Given the description of an element on the screen output the (x, y) to click on. 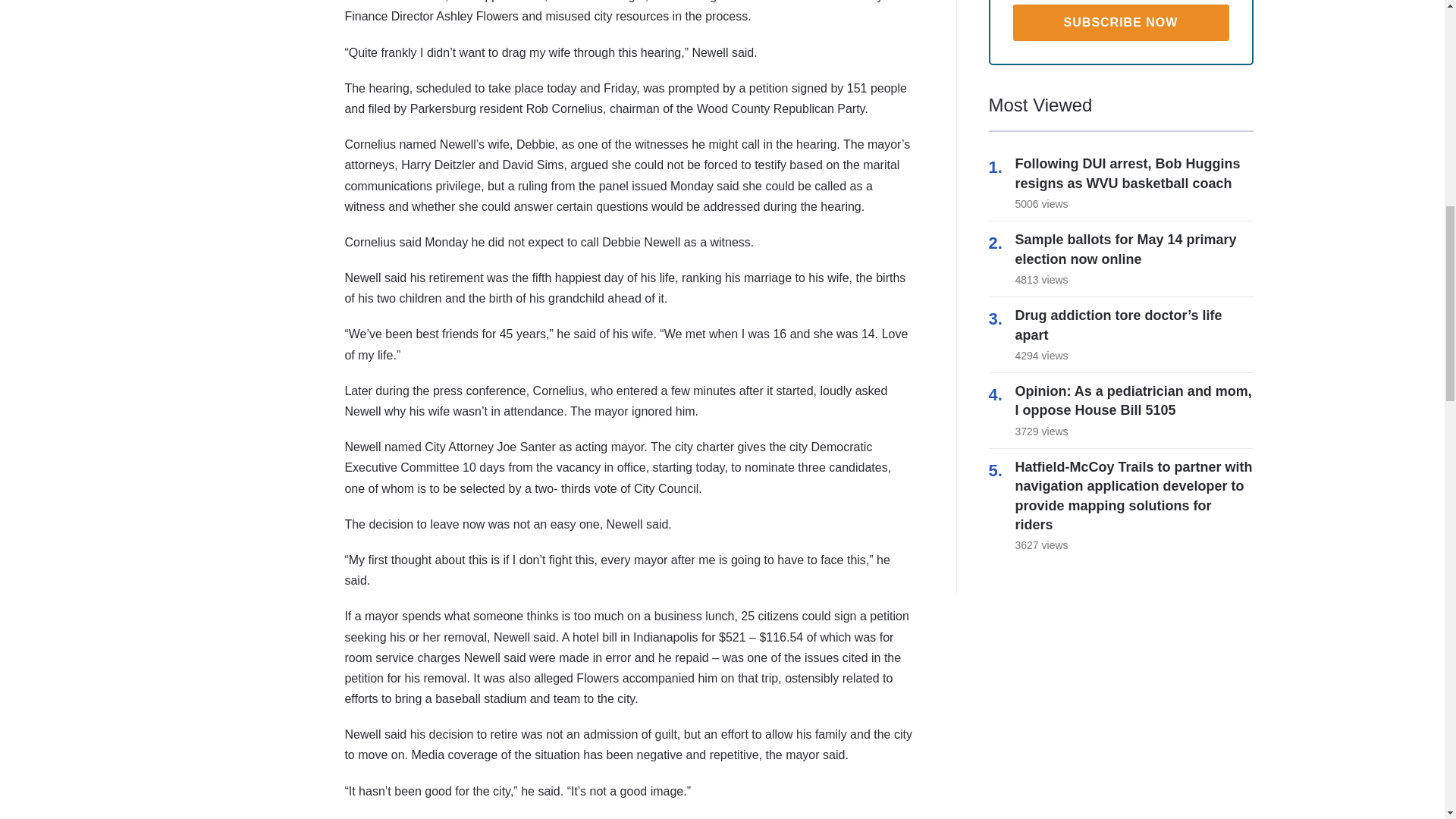
Subscribe Now (1120, 22)
Page 2 (627, 800)
